Given the description of an element on the screen output the (x, y) to click on. 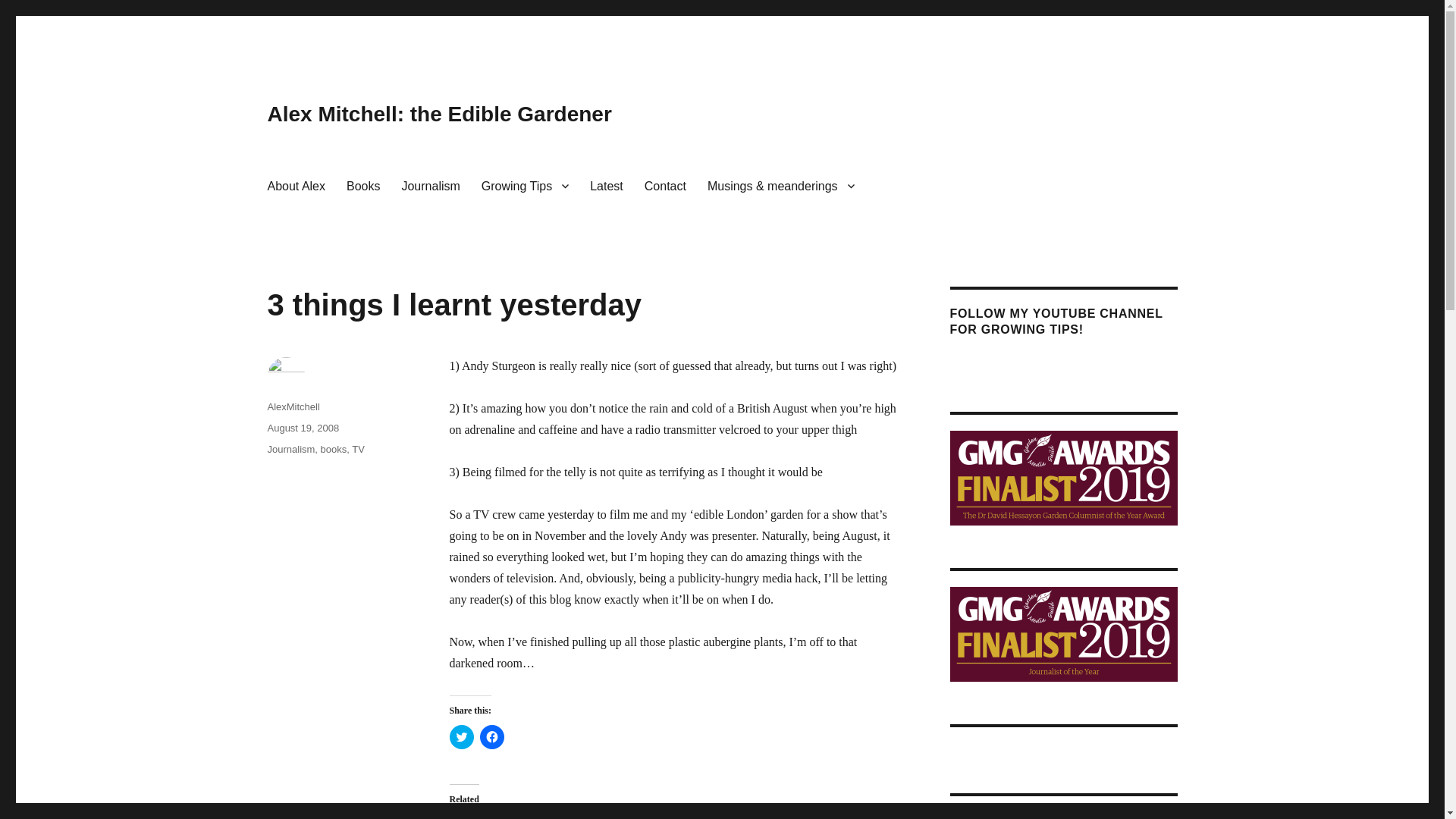
Alex Mitchell: the Edible Gardener (438, 114)
AlexMitchell (292, 406)
Books (363, 185)
Click to share on Twitter (460, 736)
Growing Tips (524, 185)
Click to share on Facebook (491, 736)
About Alex (296, 185)
Latest (606, 185)
Contact (665, 185)
August 19, 2008 (302, 428)
Journalism, books, TV (315, 449)
Journalism (430, 185)
